Given the description of an element on the screen output the (x, y) to click on. 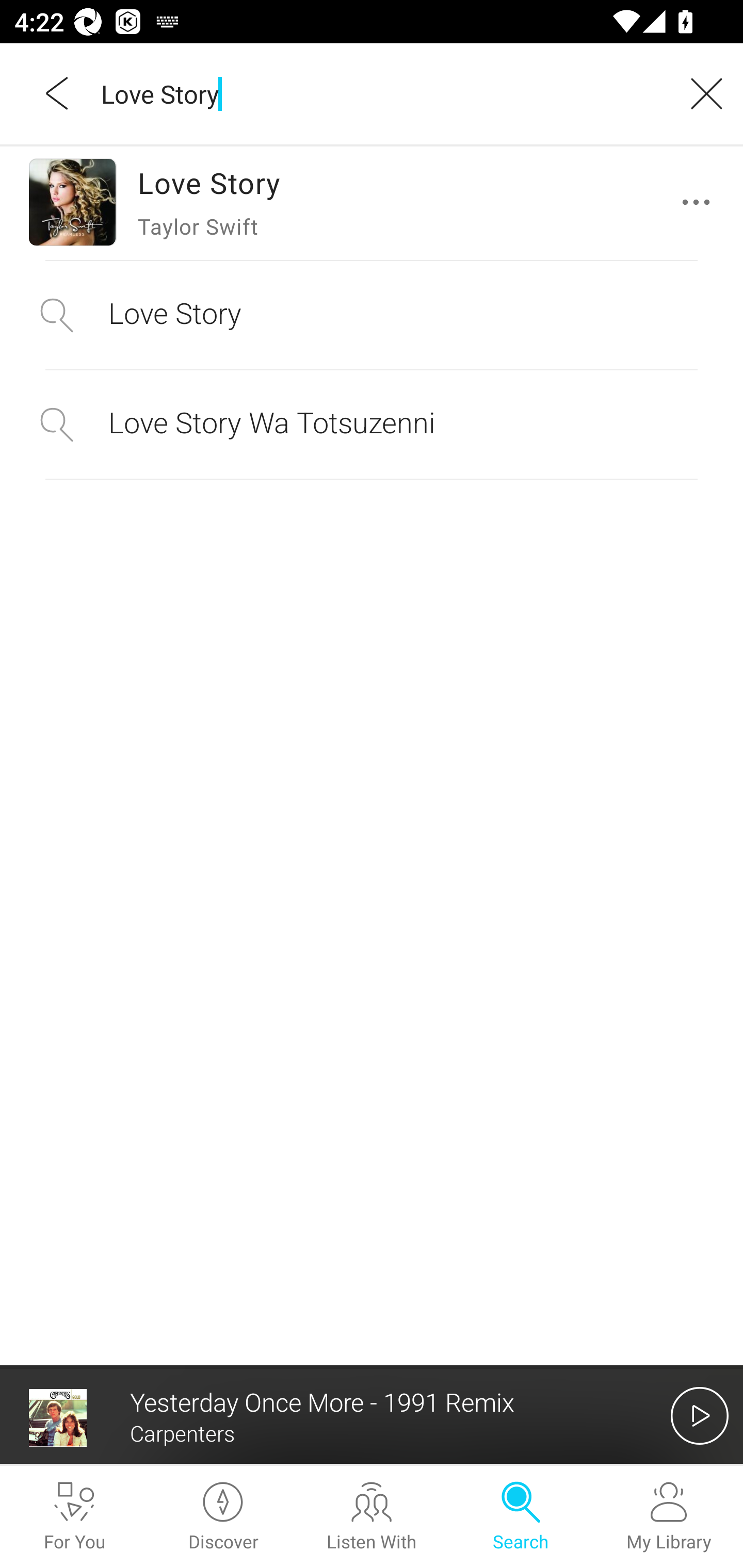
Love Story (378, 92)
Clear query (699, 92)
Back,outside of the list (57, 93)
Search preview item Love Story Taylor Swift 更多操作選項 (371, 202)
更多操作選項 (699, 202)
Love Story (371, 315)
Love Story Wa Totsuzenni (371, 424)
開始播放 (699, 1415)
For You (74, 1517)
Discover (222, 1517)
Listen With (371, 1517)
Search (519, 1517)
My Library (668, 1517)
